Given the description of an element on the screen output the (x, y) to click on. 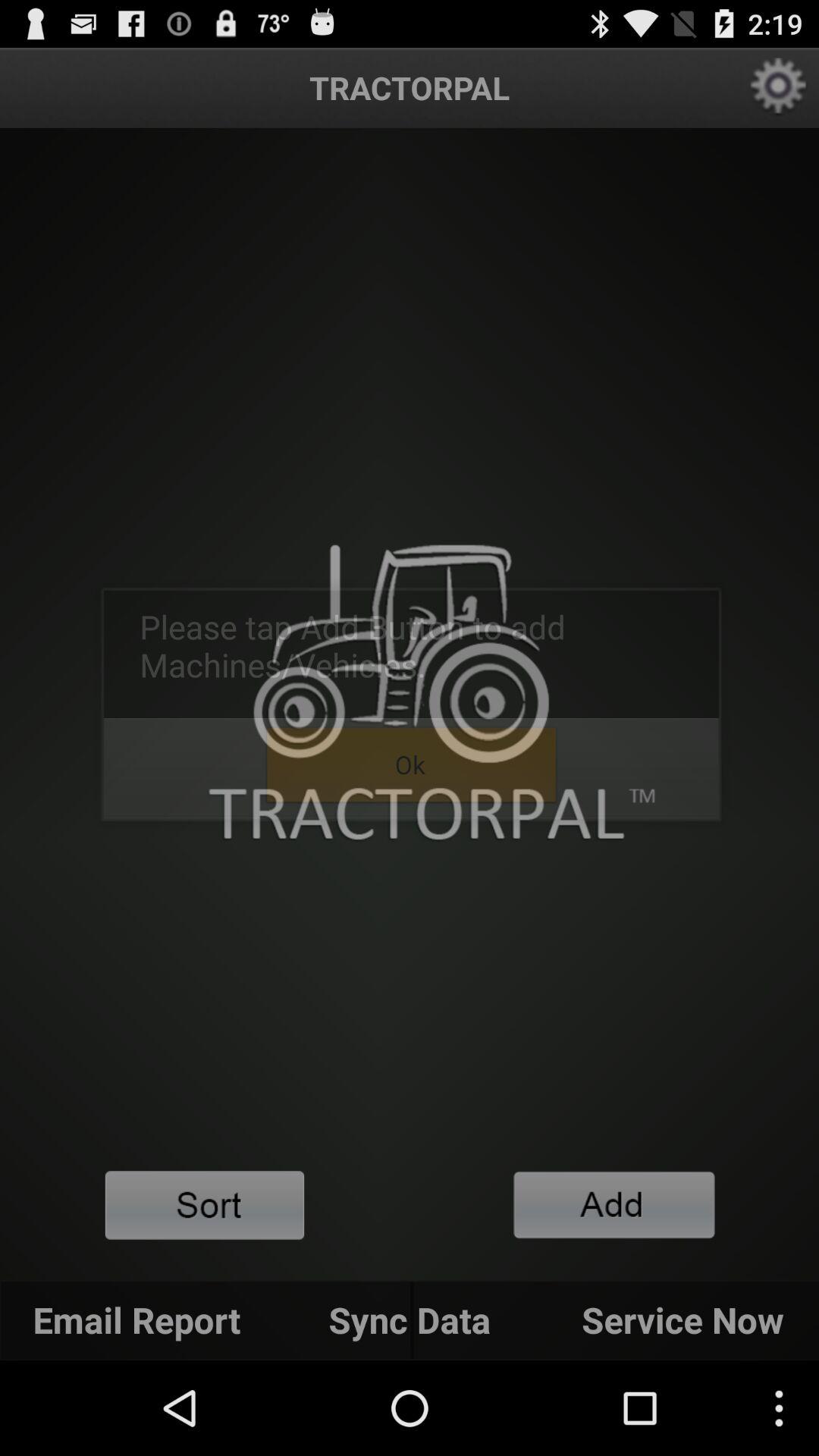
sort (204, 1205)
